Given the description of an element on the screen output the (x, y) to click on. 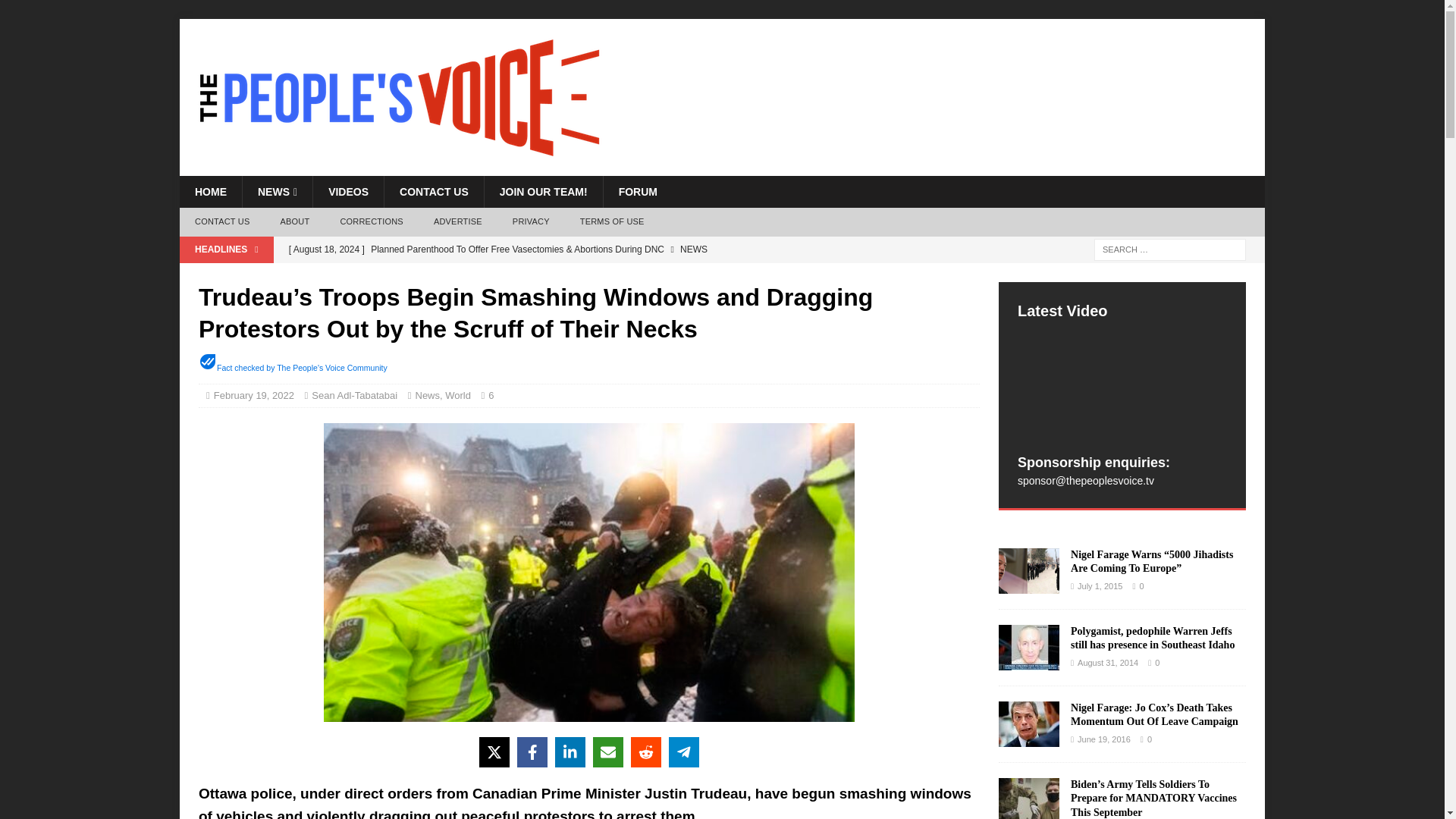
HOME (210, 192)
PRIVACY (530, 222)
NEWS (277, 192)
JOIN OUR TEAM! (542, 192)
CONTACT US (221, 222)
CORRECTIONS (370, 222)
TERMS OF USE (611, 222)
CONTACT US (433, 192)
ADVERTISE (458, 222)
ABOUT (294, 222)
